Given the description of an element on the screen output the (x, y) to click on. 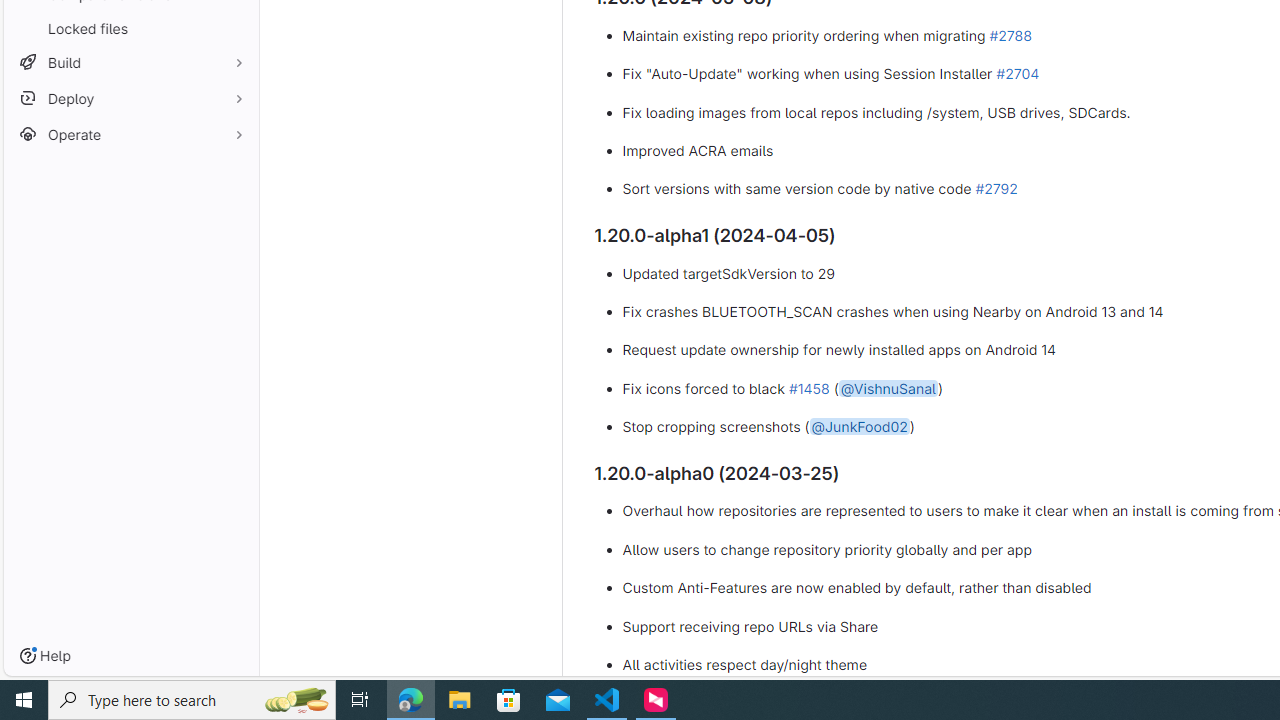
#1458 (808, 387)
Deploy (130, 98)
Build (130, 62)
Operate (130, 134)
@VishnuSanal (888, 387)
Deploy (130, 98)
#2792 (996, 189)
Pin Locked files (234, 28)
Operate (130, 134)
Locked files (130, 28)
Locked files (130, 28)
Build (130, 62)
#2704 (1017, 73)
@JunkFood02 (859, 427)
Help (45, 655)
